Given the description of an element on the screen output the (x, y) to click on. 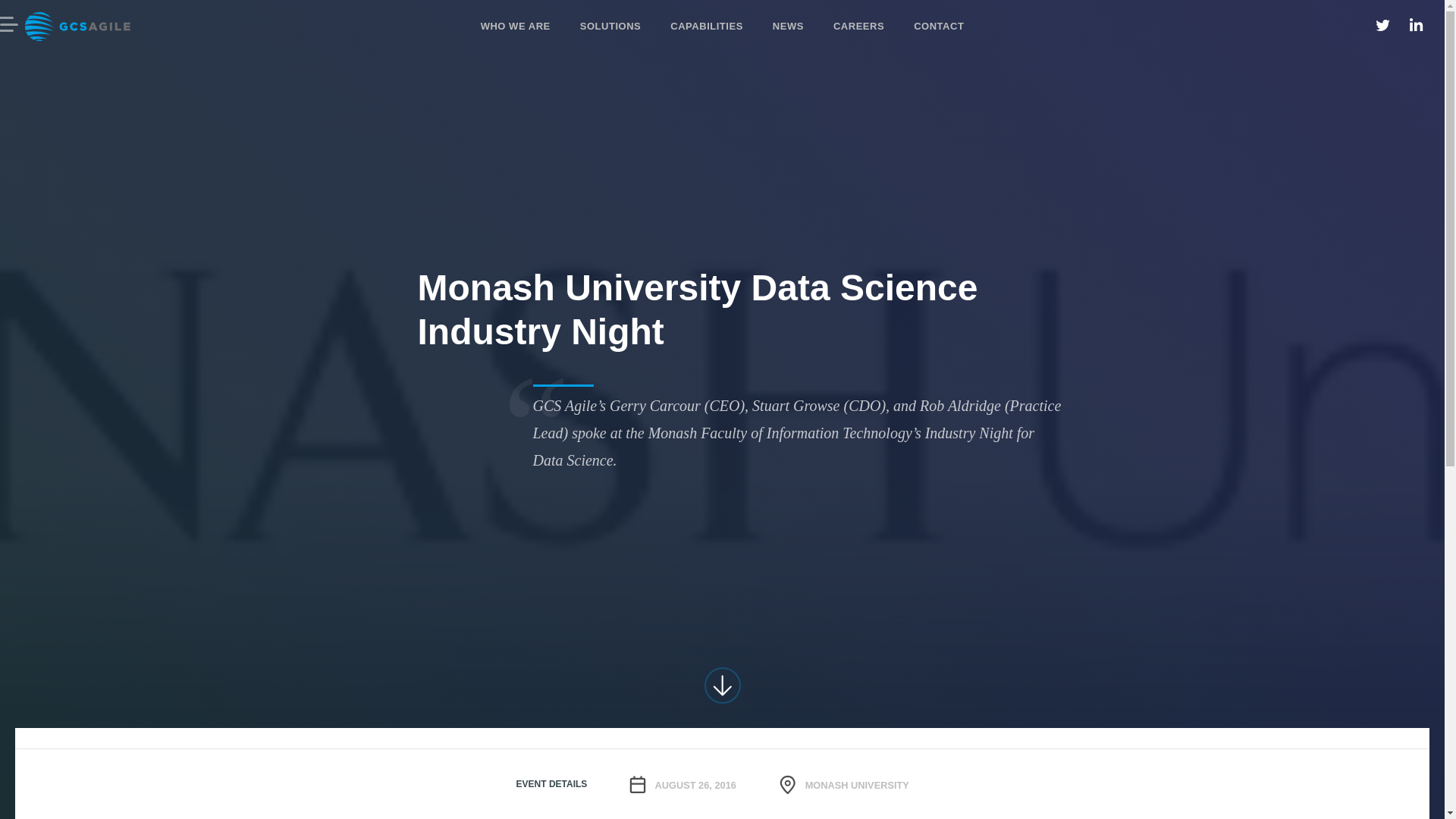
CAREERS (858, 26)
CONTACT (938, 26)
Contact (938, 26)
NEWS (787, 26)
Who We Are (514, 26)
SOLUTIONS (610, 26)
News (787, 26)
Careers (858, 26)
Solutions (610, 26)
WHO WE ARE (514, 26)
CAPABILITIES (707, 26)
Capabilities (707, 26)
